Given the description of an element on the screen output the (x, y) to click on. 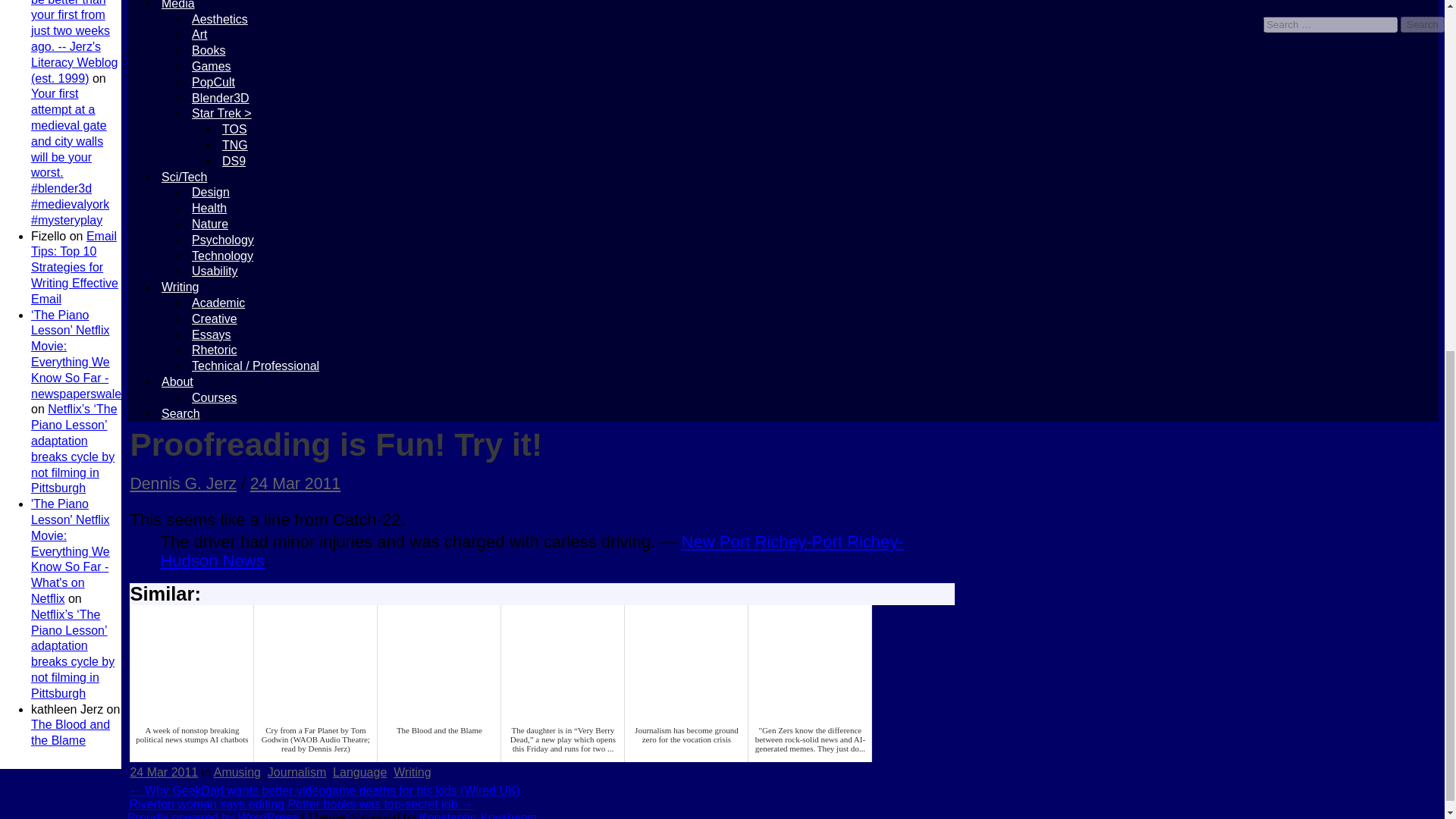
Media (177, 4)
Aesthetics (219, 19)
